Given the description of an element on the screen output the (x, y) to click on. 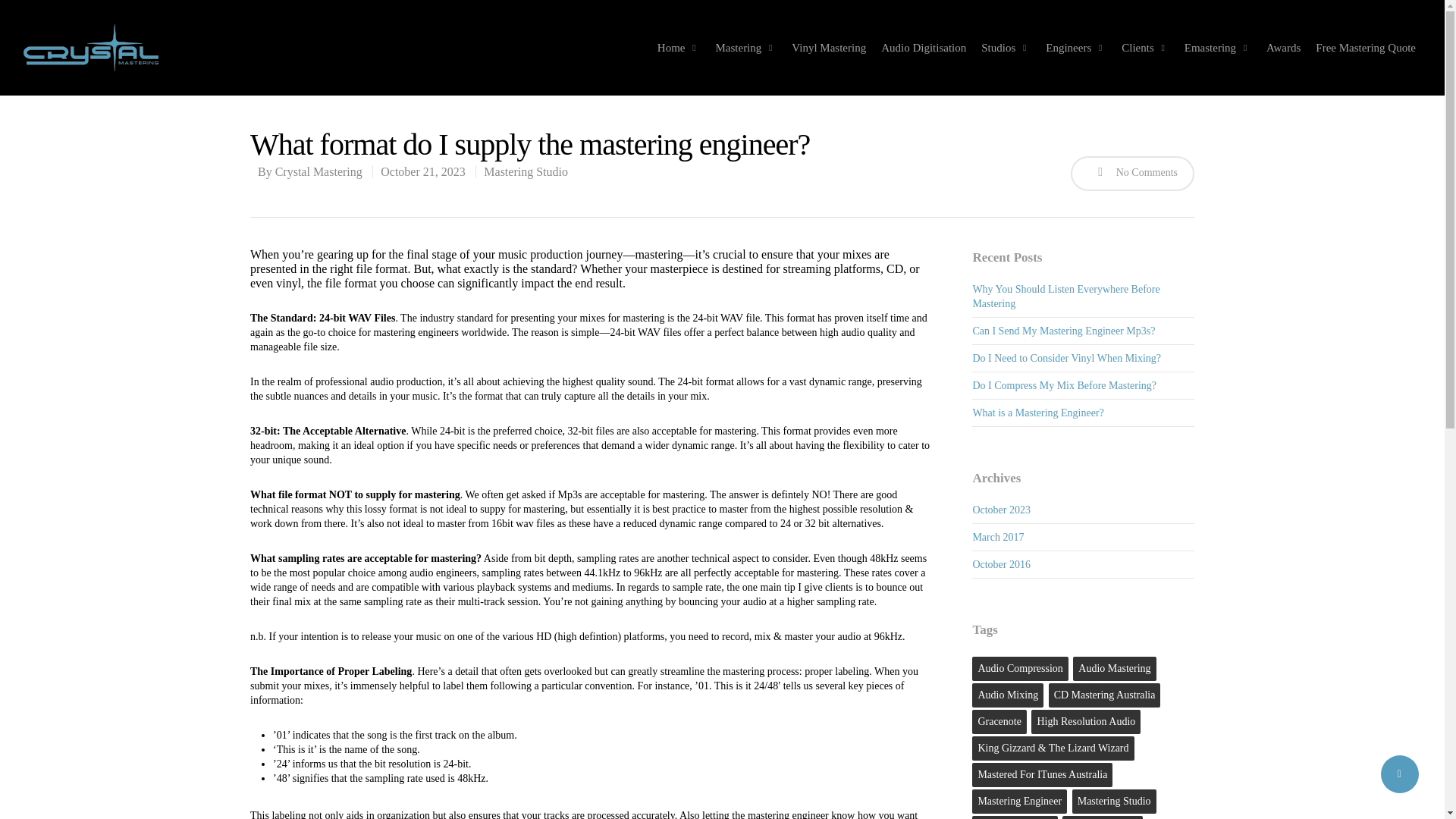
Crystal Mastering (318, 171)
Mastering (745, 47)
Audio Digitisation (923, 47)
Can I Send My Mastering Engineer Mp3s? (1063, 330)
Clients (1145, 47)
Free Mastering Quote (1365, 47)
No Comments (1131, 173)
Engineers (1075, 47)
Posts by Crystal Mastering (318, 171)
Awards (1283, 47)
Why You Should Listen Everywhere Before Mastering (1065, 296)
Studios (1005, 47)
Vinyl Mastering (829, 47)
Do I Need to Consider Vinyl When Mixing? (1066, 357)
Emastering (1217, 47)
